Given the description of an element on the screen output the (x, y) to click on. 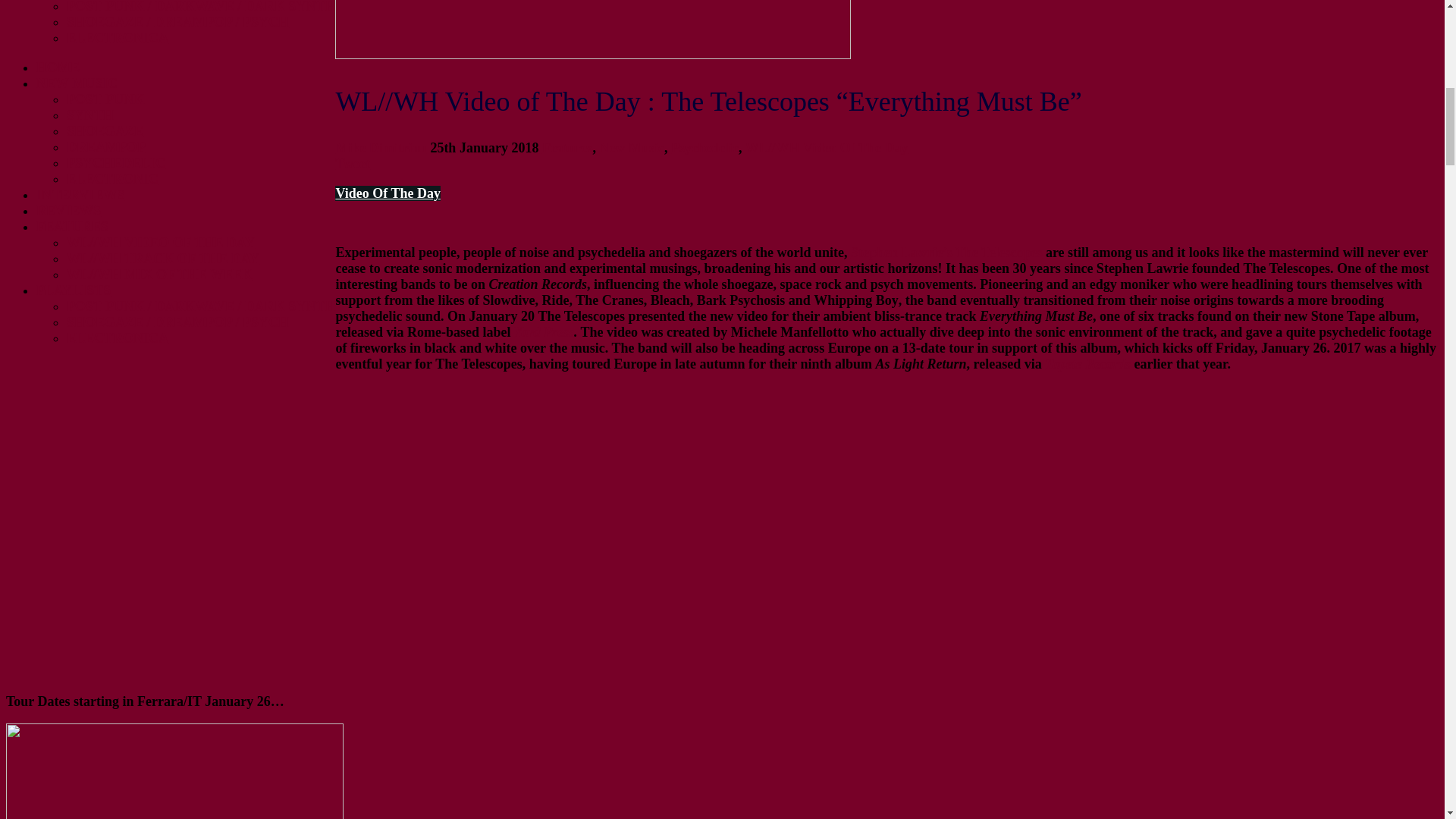
Posts by Mike Dimitriou (380, 147)
View all posts in New Music (631, 147)
View all posts in Psychedelic (704, 147)
View all posts in Features (566, 147)
